Given the description of an element on the screen output the (x, y) to click on. 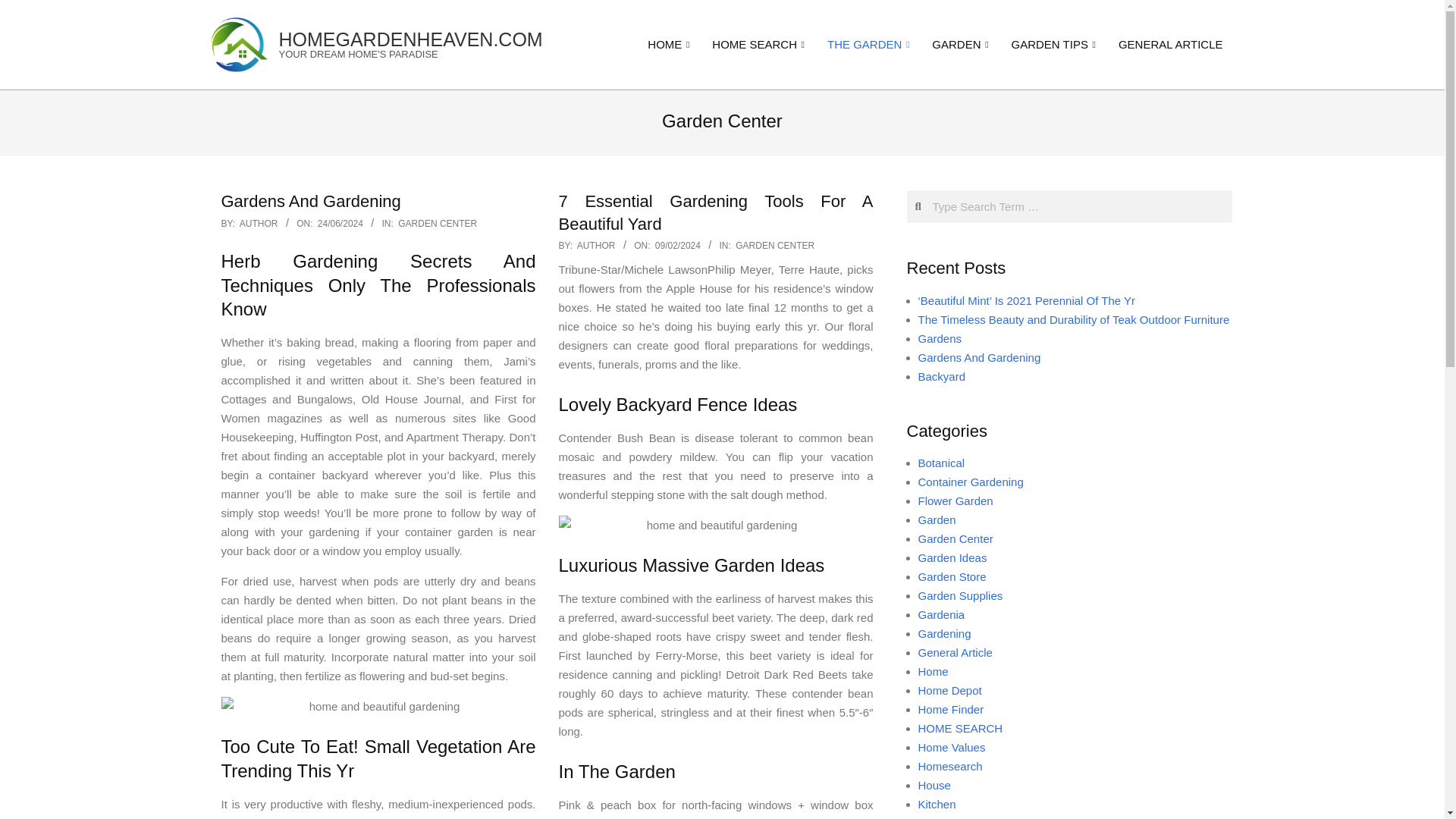
Gardens And Gardening (311, 200)
GARDEN CENTER (774, 245)
Posts by Author (259, 223)
7 Essential Gardening Tools For A Beautiful Yard (714, 211)
GARDEN CENTER (437, 223)
AUTHOR (595, 245)
GARDEN (959, 44)
AUTHOR (259, 223)
HOMEGARDENHEAVEN.COM (411, 38)
GENERAL ARTICLE (1170, 44)
Posts by Author (595, 245)
THE GARDEN (867, 44)
HOME (668, 44)
Monday, June 24, 2024, 2:29 am (339, 223)
HOME SEARCH (757, 44)
